Given the description of an element on the screen output the (x, y) to click on. 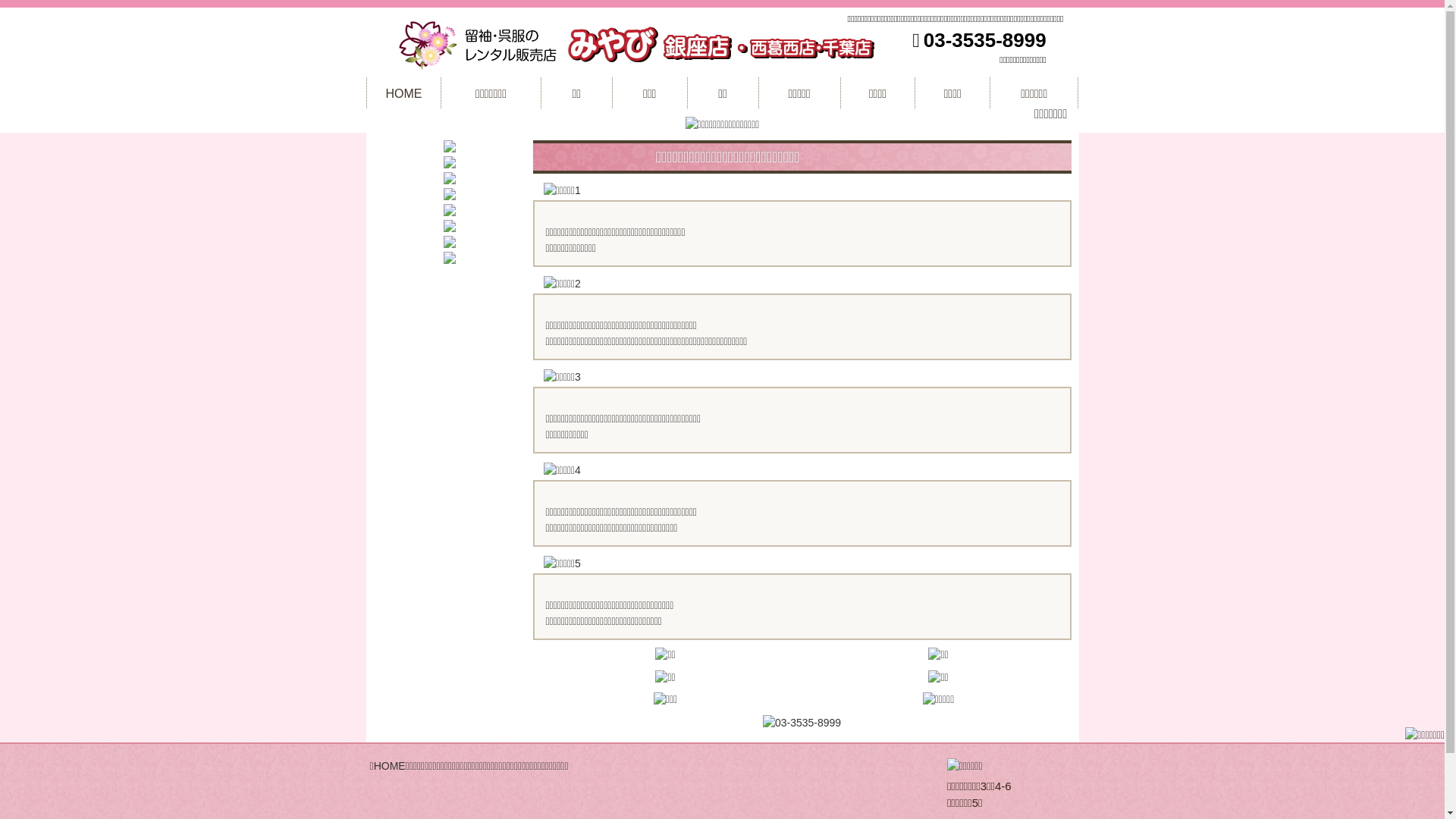
03-3535-8999 Element type: text (984, 39)
HOME Element type: text (404, 92)
HOME Element type: text (389, 765)
